Given the description of an element on the screen output the (x, y) to click on. 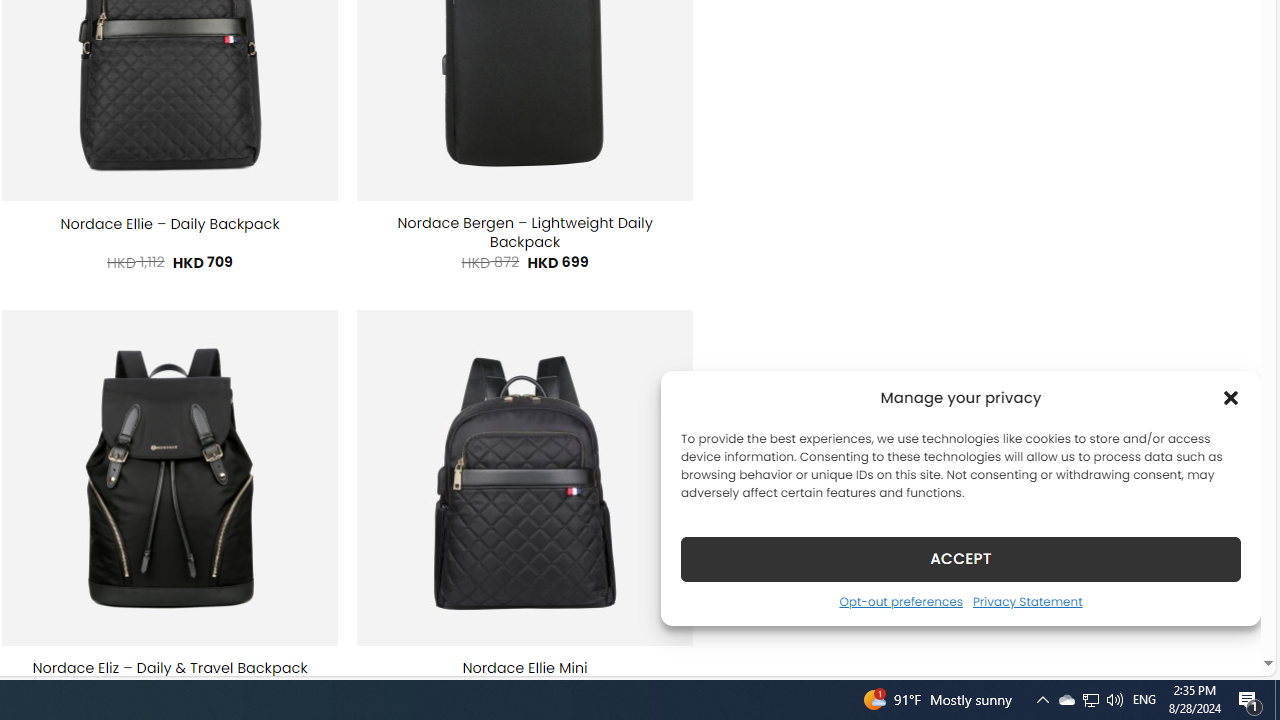
Opt-out preferences (900, 601)
Nordace Ellie Mini (524, 668)
Class: cmplz-close (1231, 397)
Privacy Statement (1026, 601)
ACCEPT (960, 558)
